Given the description of an element on the screen output the (x, y) to click on. 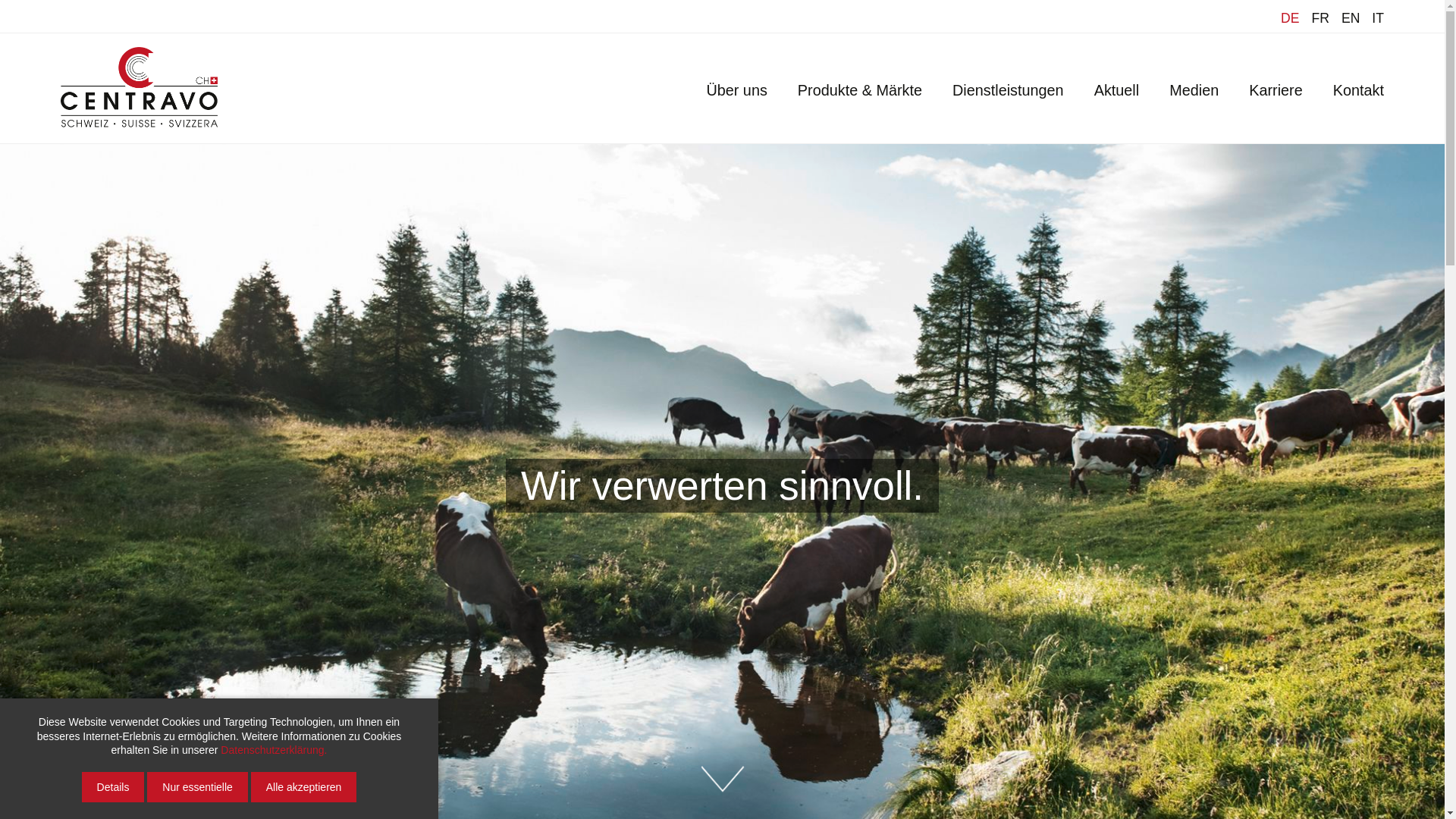
FR Element type: text (1319, 17)
IT Element type: text (1377, 17)
DE Element type: text (1289, 17)
EN Element type: text (1350, 17)
Karriere Element type: text (1275, 89)
Details Element type: text (112, 786)
Medien Element type: text (1193, 89)
Alle akzeptieren Element type: text (304, 786)
Aktuell Element type: text (1116, 89)
Nur essentielle Element type: text (197, 786)
Dienstleistungen Element type: text (1007, 89)
Kontakt Element type: text (1358, 89)
